Given the description of an element on the screen output the (x, y) to click on. 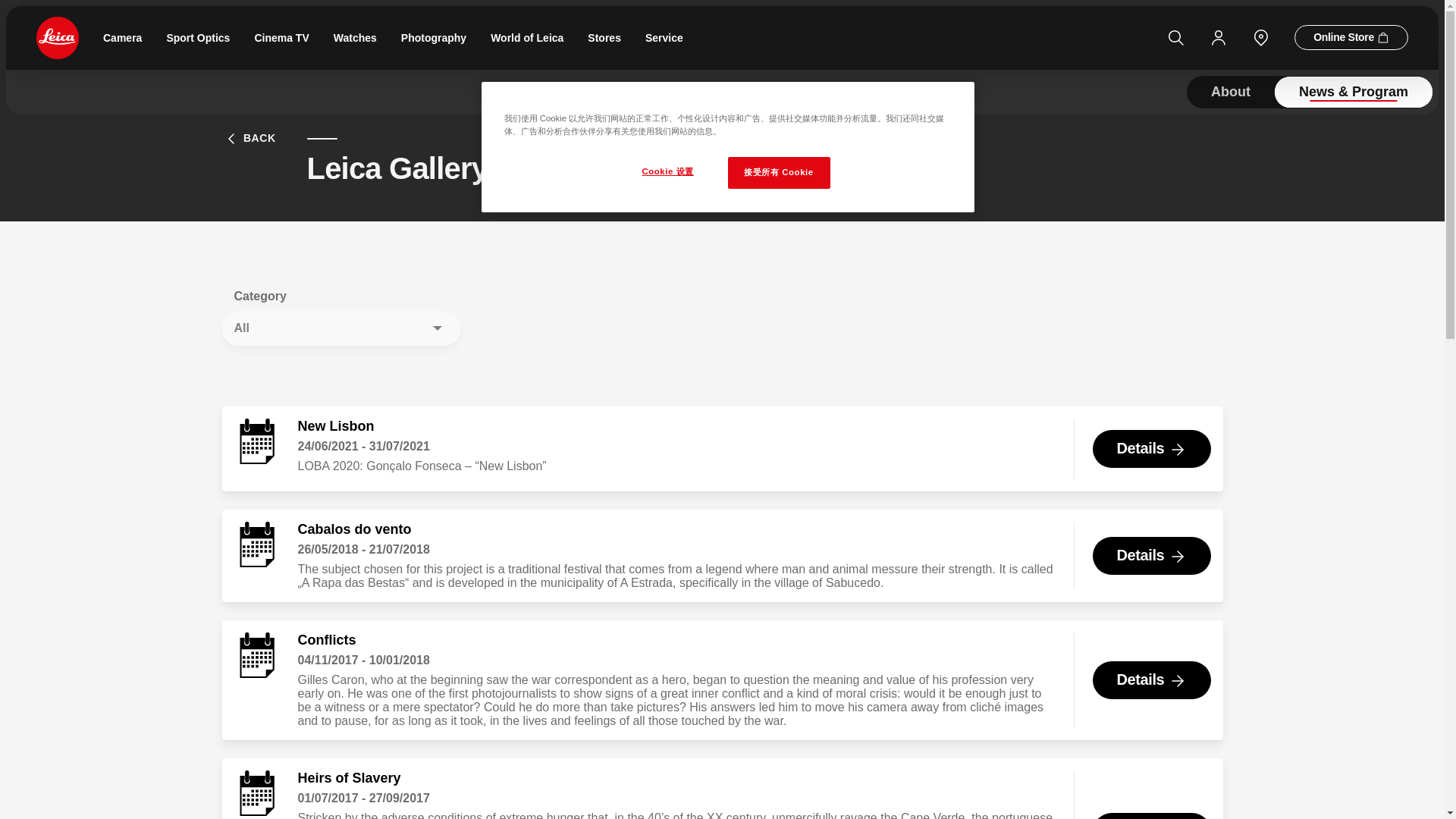
About (1230, 92)
Open menu (8, 5)
